Given the description of an element on the screen output the (x, y) to click on. 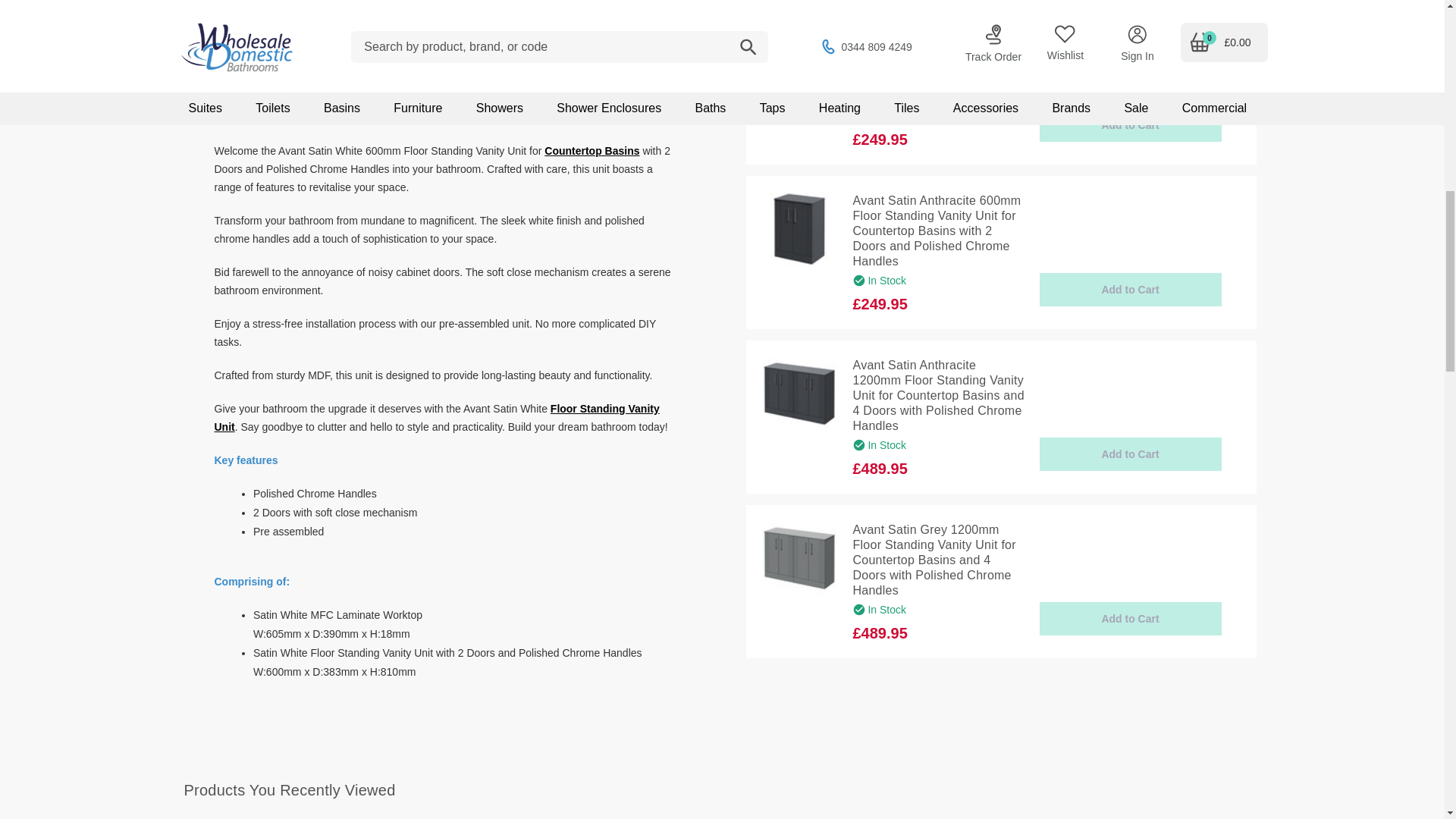
Add to Cart (1130, 618)
Add to Cart (1130, 124)
Add to Cart (1130, 453)
Add to Cart (1130, 289)
